Given the description of an element on the screen output the (x, y) to click on. 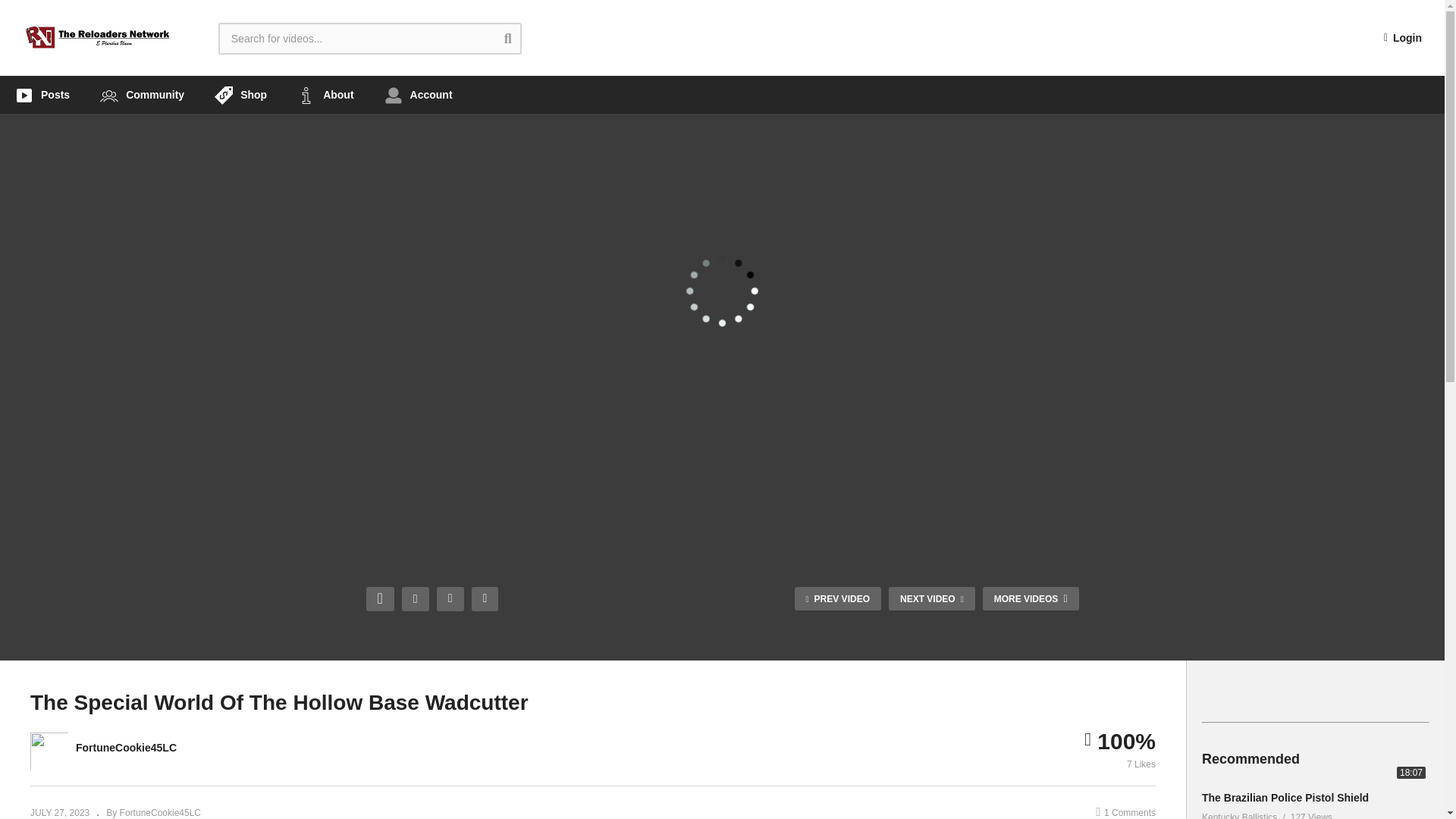
Watch Later (485, 598)
Shop (240, 94)
Community (141, 94)
The Reloaders Network (98, 37)
Posts (42, 94)
About (325, 94)
SEARCH (519, 37)
SEARCH (519, 37)
 Login (1402, 38)
